Given the description of an element on the screen output the (x, y) to click on. 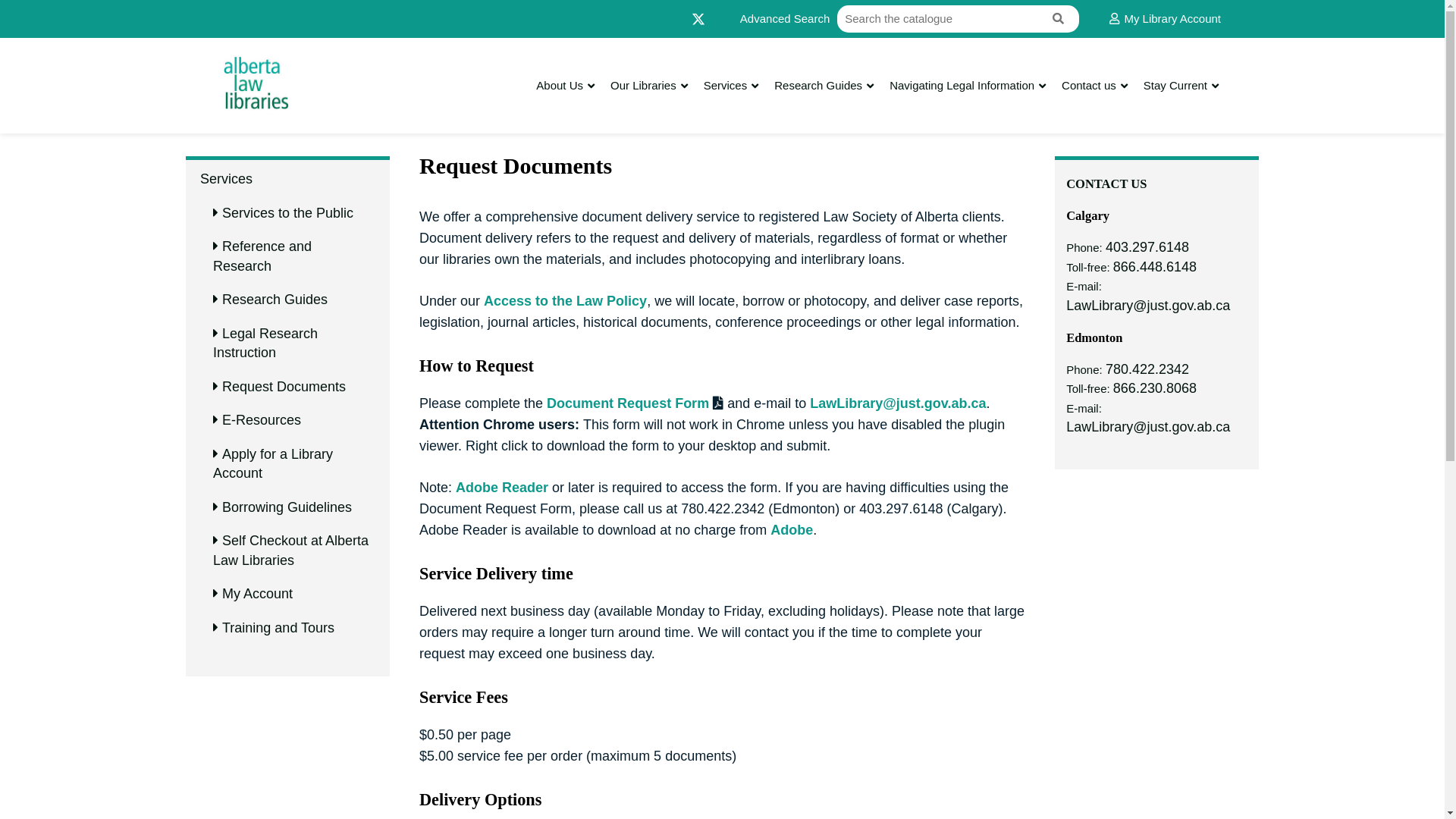
Self Checkout at Alberta Law Libraries Element type: text (290, 551)
866.230.8068 Element type: text (1154, 388)
Stay Current Element type: text (1174, 85)
Borrowing Guidelines Element type: text (286, 507)
Navigating Legal Information Element type: text (961, 85)
My Account Element type: text (257, 594)
Access to the Law Policy Element type: text (564, 302)
LawLibrary@just.gov.ab.ca Element type: text (1148, 306)
Research Guides Element type: text (817, 85)
Our Libraries Element type: text (643, 85)
About Us Element type: text (559, 85)
Adobe Reader Element type: text (501, 489)
Services Element type: text (226, 179)
866.448.6148 Element type: text (1154, 267)
Services to the Public Element type: text (287, 213)
Adobe Element type: text (791, 531)
Search Element type: text (1060, 19)
Services Element type: text (725, 85)
Document Request Form Element type: text (627, 404)
403.297.6148 Element type: text (1147, 247)
Follow @ABLawLibraries on x-twitter Element type: text (698, 17)
Advanced Search Element type: text (784, 19)
My Library Account Element type: text (1164, 19)
LawLibrary@just.gov.ab.ca Element type: text (1148, 427)
LawLibrary@just.gov.ab.ca Element type: text (897, 404)
780.422.2342 Element type: text (1147, 369)
Training and Tours Element type: text (278, 628)
Reference and Research Element type: text (262, 256)
E-Resources Element type: text (261, 420)
Contact us Element type: text (1088, 85)
Request Documents Element type: text (283, 387)
Apply for a Library Account Element type: text (272, 464)
Research Guides Element type: text (274, 299)
Legal Research Instruction Element type: text (265, 344)
